Given the description of an element on the screen output the (x, y) to click on. 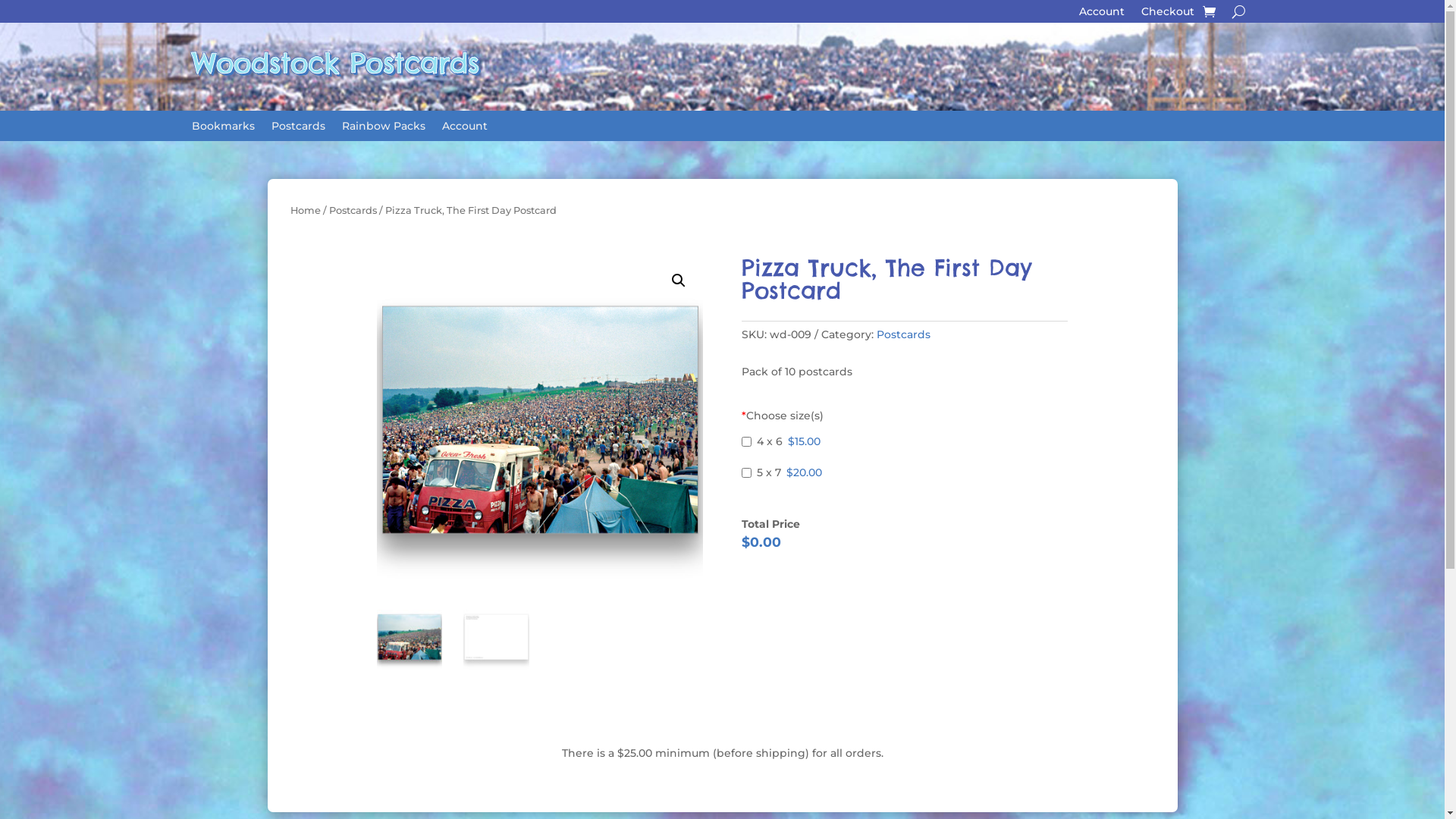
Postcards Element type: text (903, 334)
Bookmarks Element type: text (222, 128)
Rainbow Packs Element type: text (382, 128)
wd_009_back-1000x1000 Element type: hover (865, 419)
Postcards Element type: text (352, 210)
Account Element type: text (1100, 14)
wd_009_front-1000x1000 Element type: hover (539, 419)
Home Element type: text (304, 210)
Postcards Element type: text (298, 128)
Checkout Element type: text (1166, 14)
Account Element type: text (463, 128)
